Given the description of an element on the screen output the (x, y) to click on. 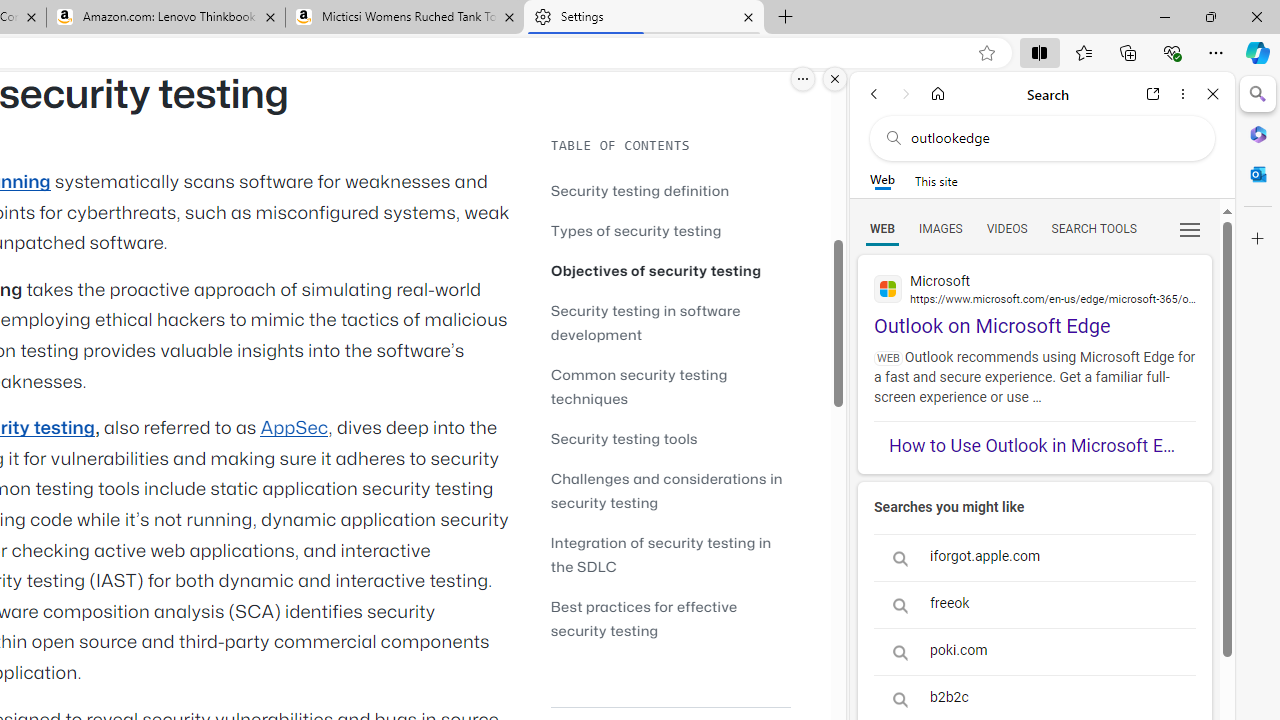
Security testing in software development (645, 321)
poki.com (1034, 652)
Objectives of security testing (670, 269)
Types of security testing (670, 230)
Close split screen. (835, 79)
Security testing in software development (670, 322)
poki.com (1034, 651)
